Given the description of an element on the screen output the (x, y) to click on. 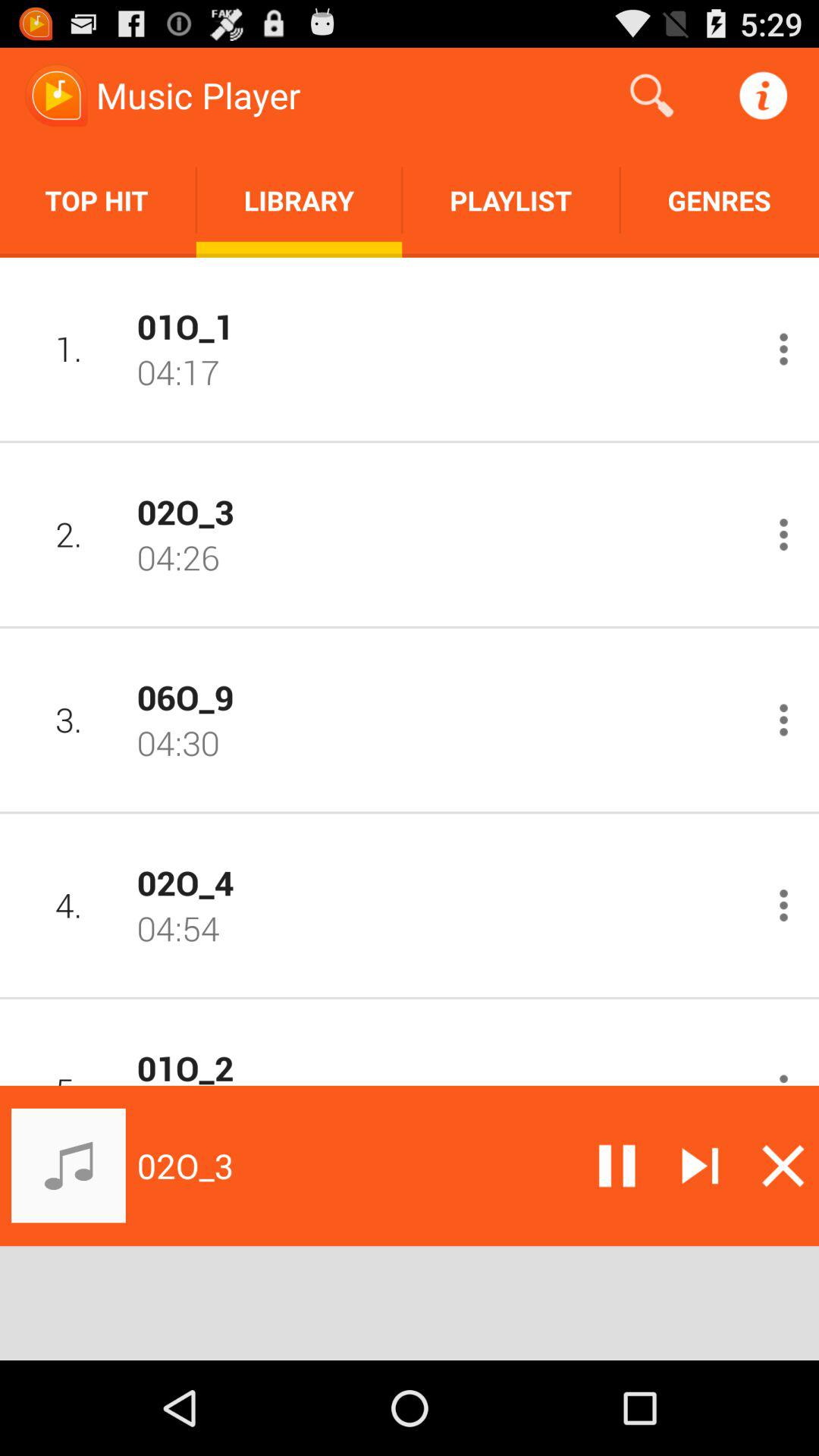
open item next to the top hit app (299, 200)
